Given the description of an element on the screen output the (x, y) to click on. 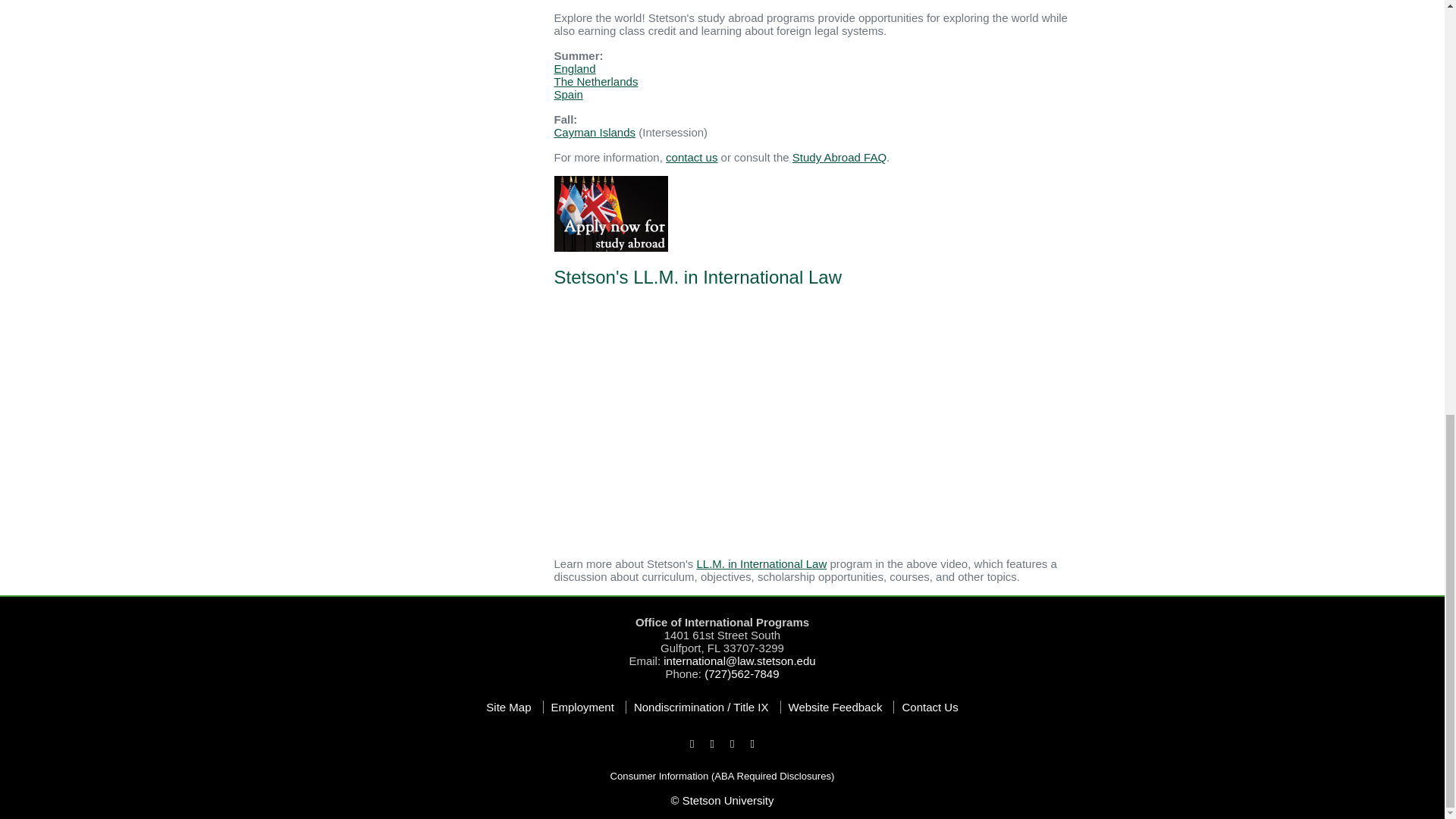
study abroad (609, 212)
YouTube video player (765, 422)
Cayman Islands Winter Break Program (593, 132)
Oxford, England (574, 68)
Contact Information (721, 647)
